Given the description of an element on the screen output the (x, y) to click on. 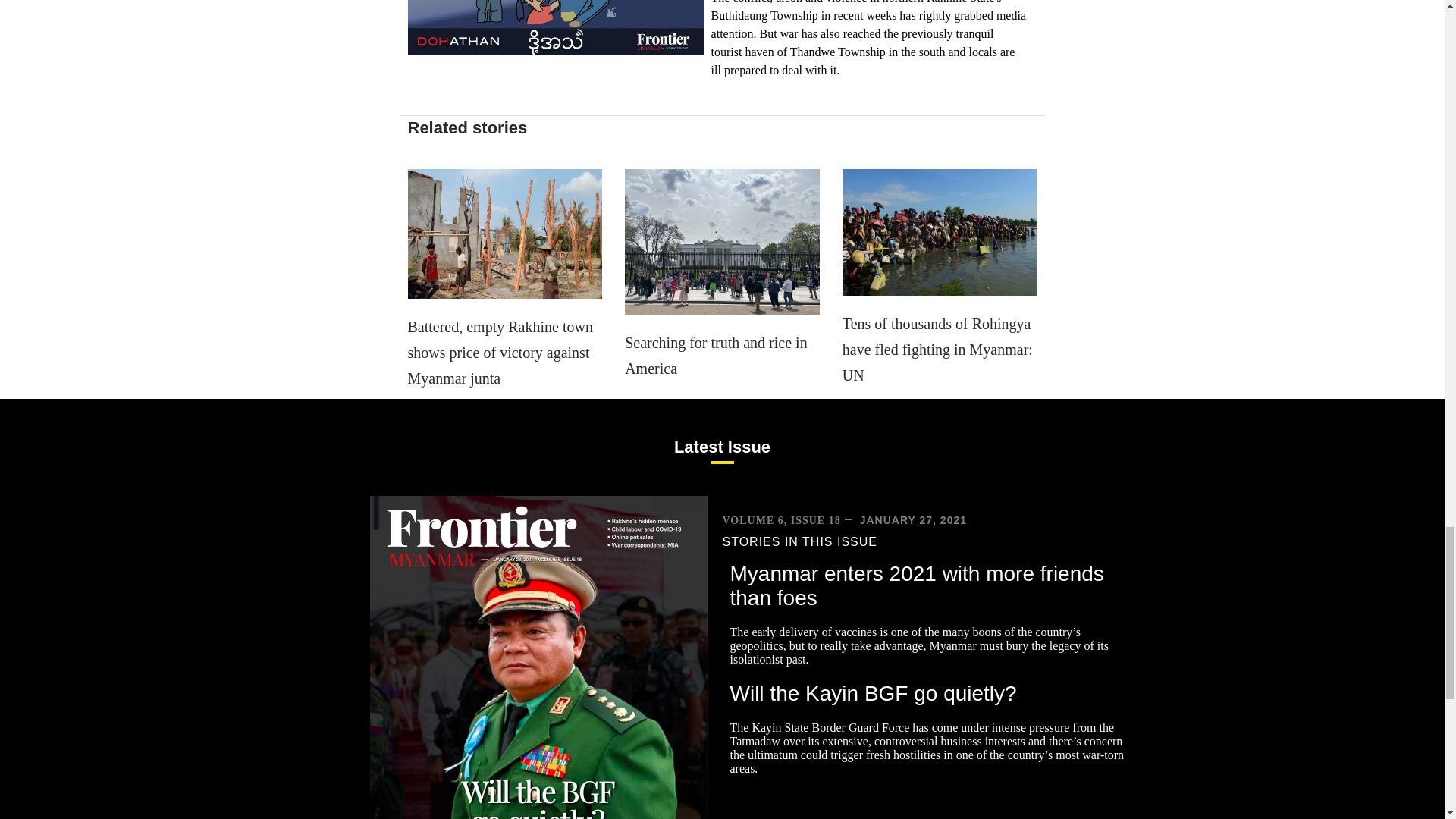
Searching for truth and rice in America (715, 355)
Rohingya (939, 231)
cover (538, 657)
VOLUME 6, ISSUE 18 (781, 520)
Minbya (504, 233)
6 (721, 241)
